Given the description of an element on the screen output the (x, y) to click on. 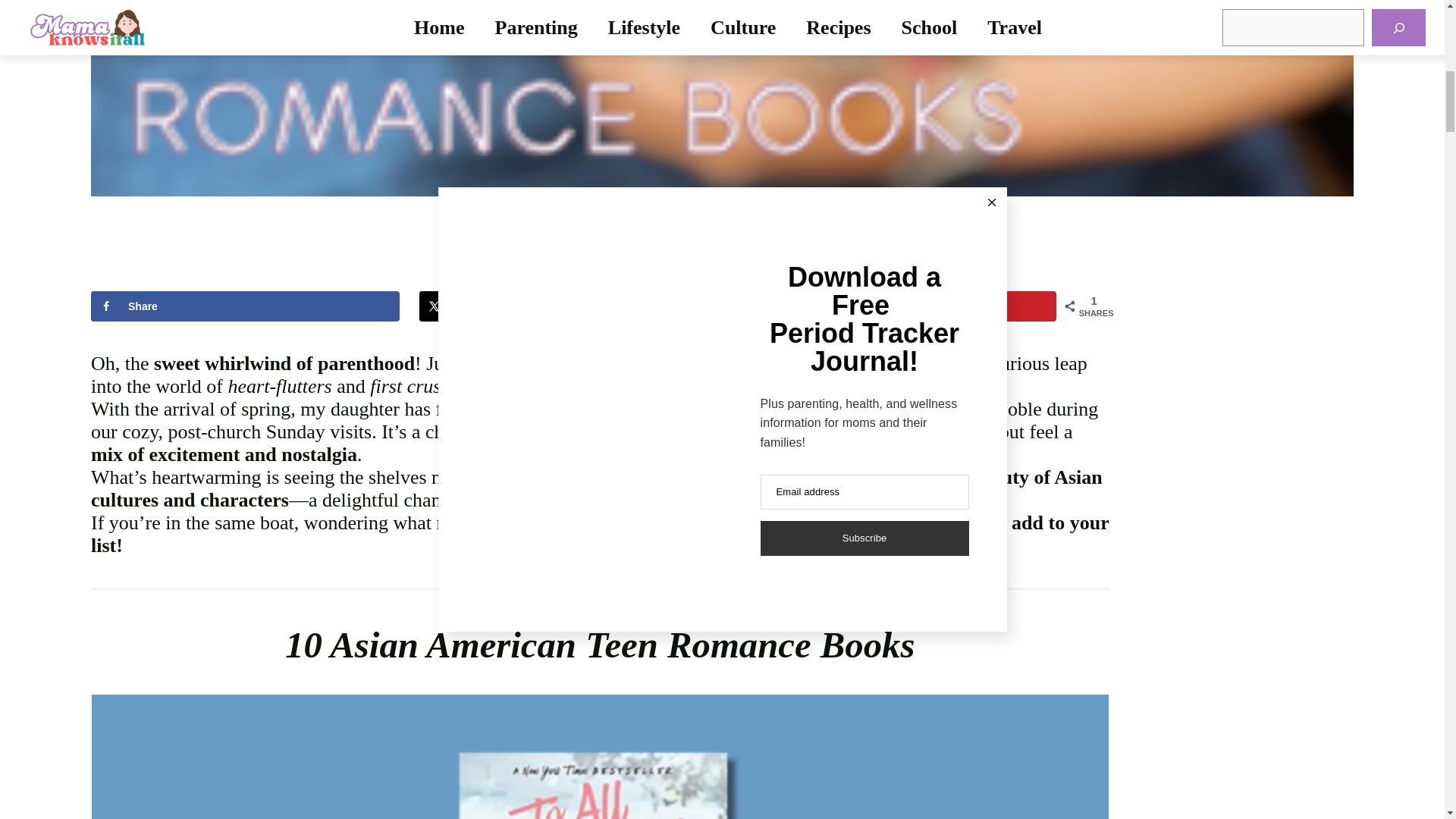
Share on Facebook (244, 306)
Tweet (573, 306)
Pin (900, 306)
Share on X (573, 306)
Save to Pinterest (900, 306)
Share (244, 306)
